Given the description of an element on the screen output the (x, y) to click on. 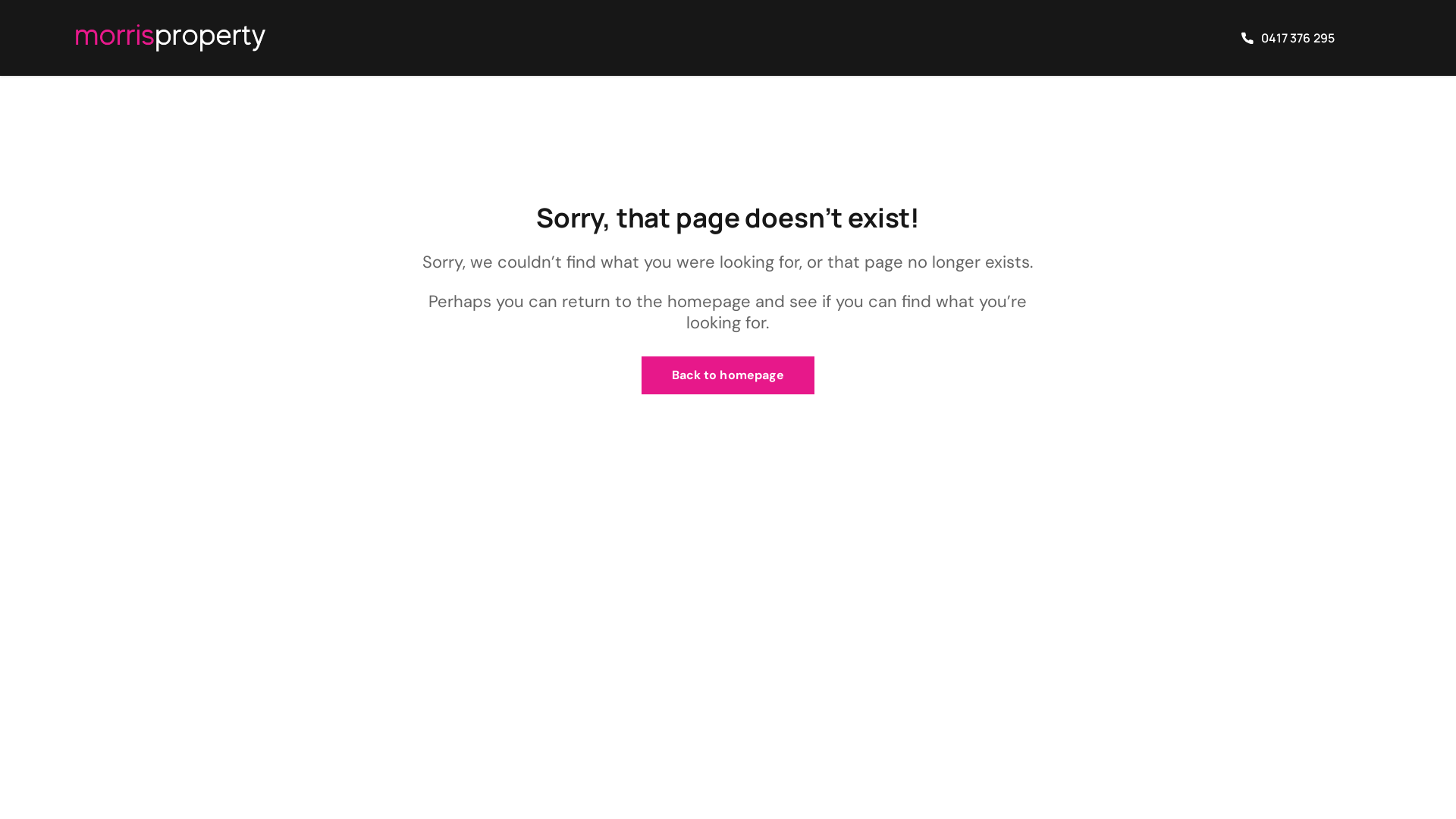
Back to homepage Element type: text (727, 375)
0417 376 295 Element type: text (1287, 37)
Back to homepage Element type: text (727, 375)
